Given the description of an element on the screen output the (x, y) to click on. 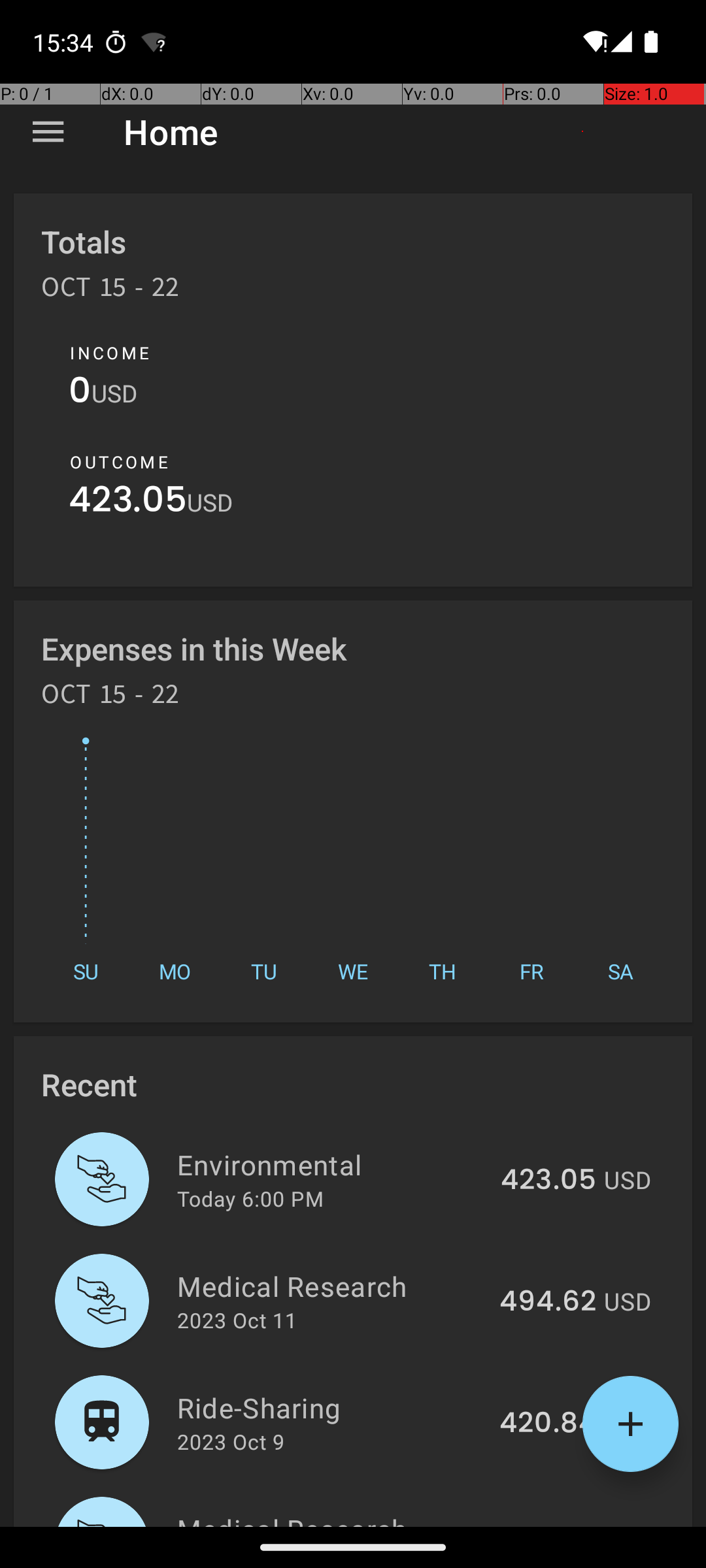
423.05 Element type: android.widget.TextView (127, 502)
Environmental Element type: android.widget.TextView (331, 1164)
Today 6:00 PM Element type: android.widget.TextView (250, 1198)
Medical Research Element type: android.widget.TextView (330, 1285)
2023 Oct 11 Element type: android.widget.TextView (236, 1320)
494.62 Element type: android.widget.TextView (547, 1301)
Ride-Sharing Element type: android.widget.TextView (330, 1407)
2023 Oct 9 Element type: android.widget.TextView (230, 1441)
420.84 Element type: android.widget.TextView (547, 1423)
270.43 Element type: android.widget.TextView (549, 1524)
Android System notification: AndroidWifi has limited connectivity Element type: android.widget.ImageView (153, 41)
Wifi signal full.,No internet Element type: android.widget.FrameLayout (593, 41)
